Given the description of an element on the screen output the (x, y) to click on. 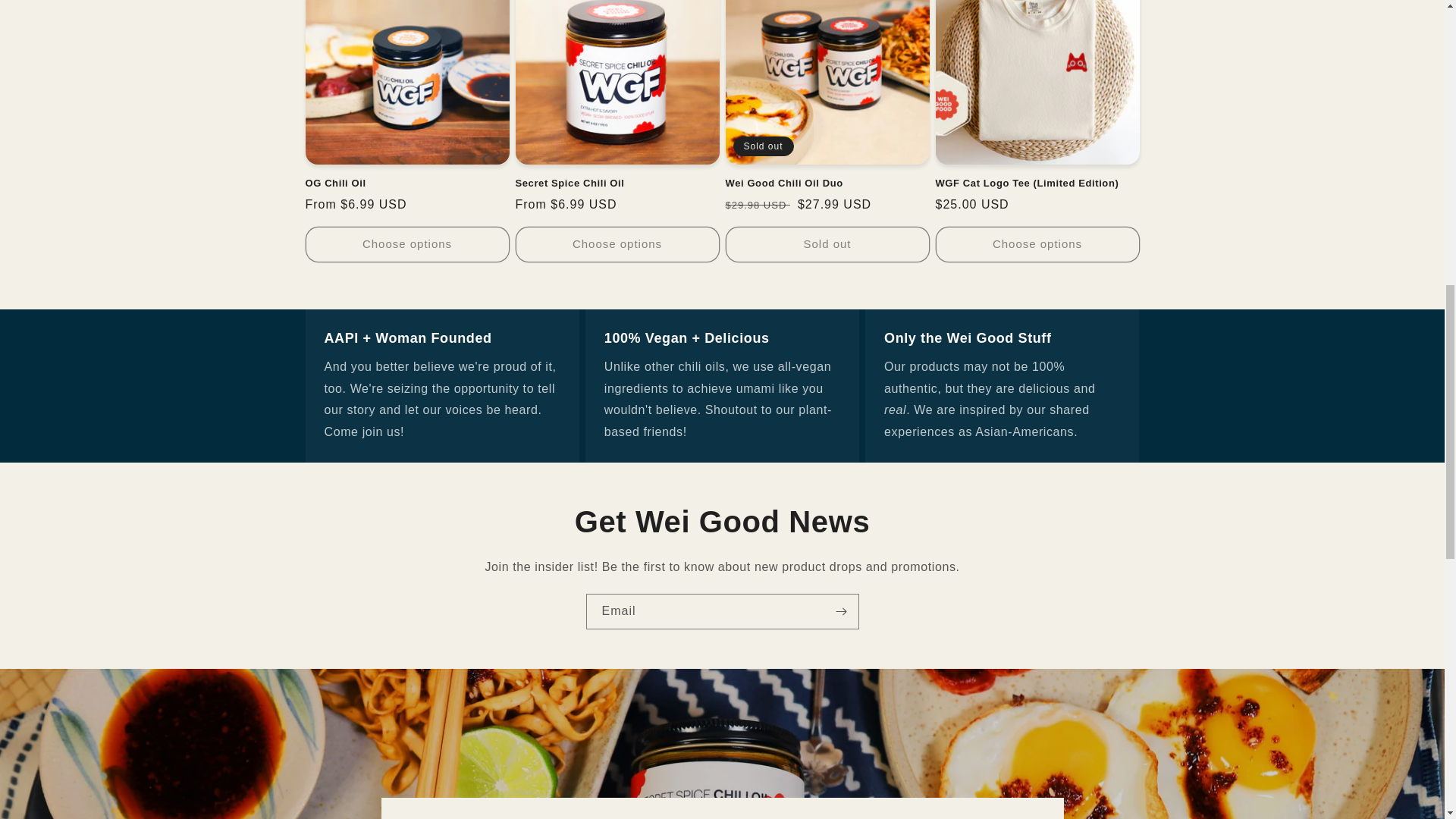
Secret Spice Chili Oil (617, 183)
Choose options (406, 244)
Choose options (617, 244)
OG Chili Oil (406, 183)
